Given the description of an element on the screen output the (x, y) to click on. 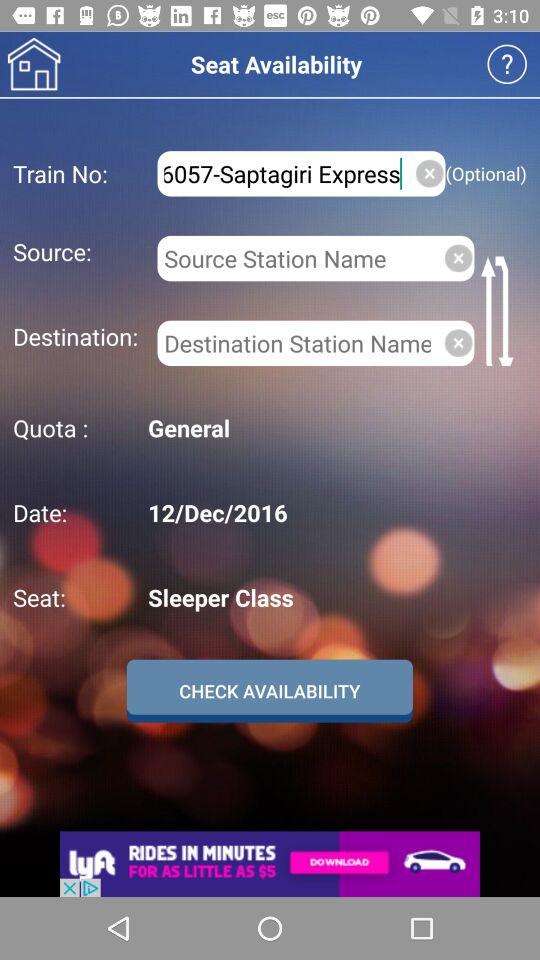
open the icon next to the seat: icon (333, 597)
